Given the description of an element on the screen output the (x, y) to click on. 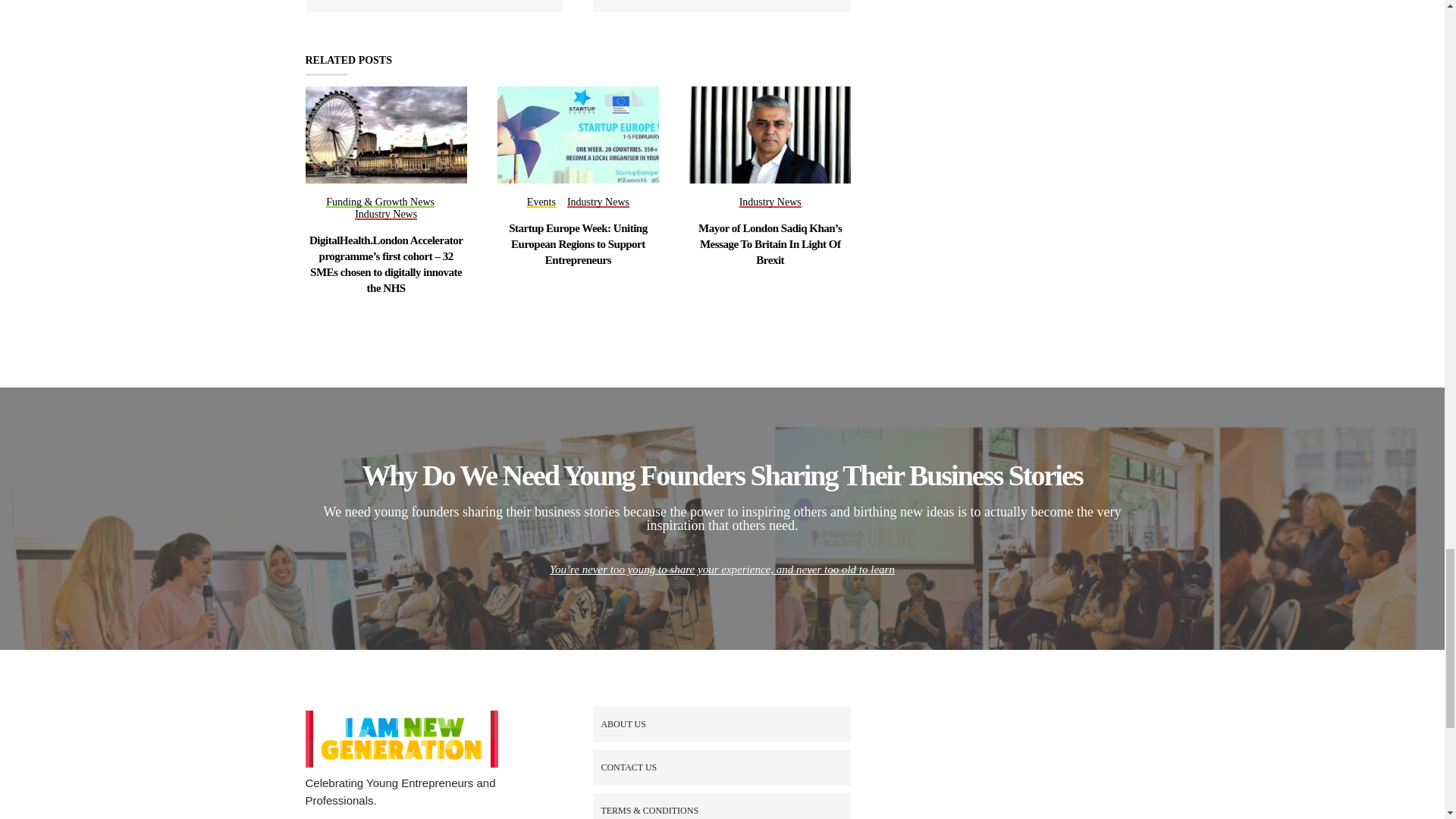
View all posts in Industry News (597, 203)
View all posts in Industry News (385, 215)
View all posts in Industry News (770, 203)
View all posts in Events (541, 203)
